Given the description of an element on the screen output the (x, y) to click on. 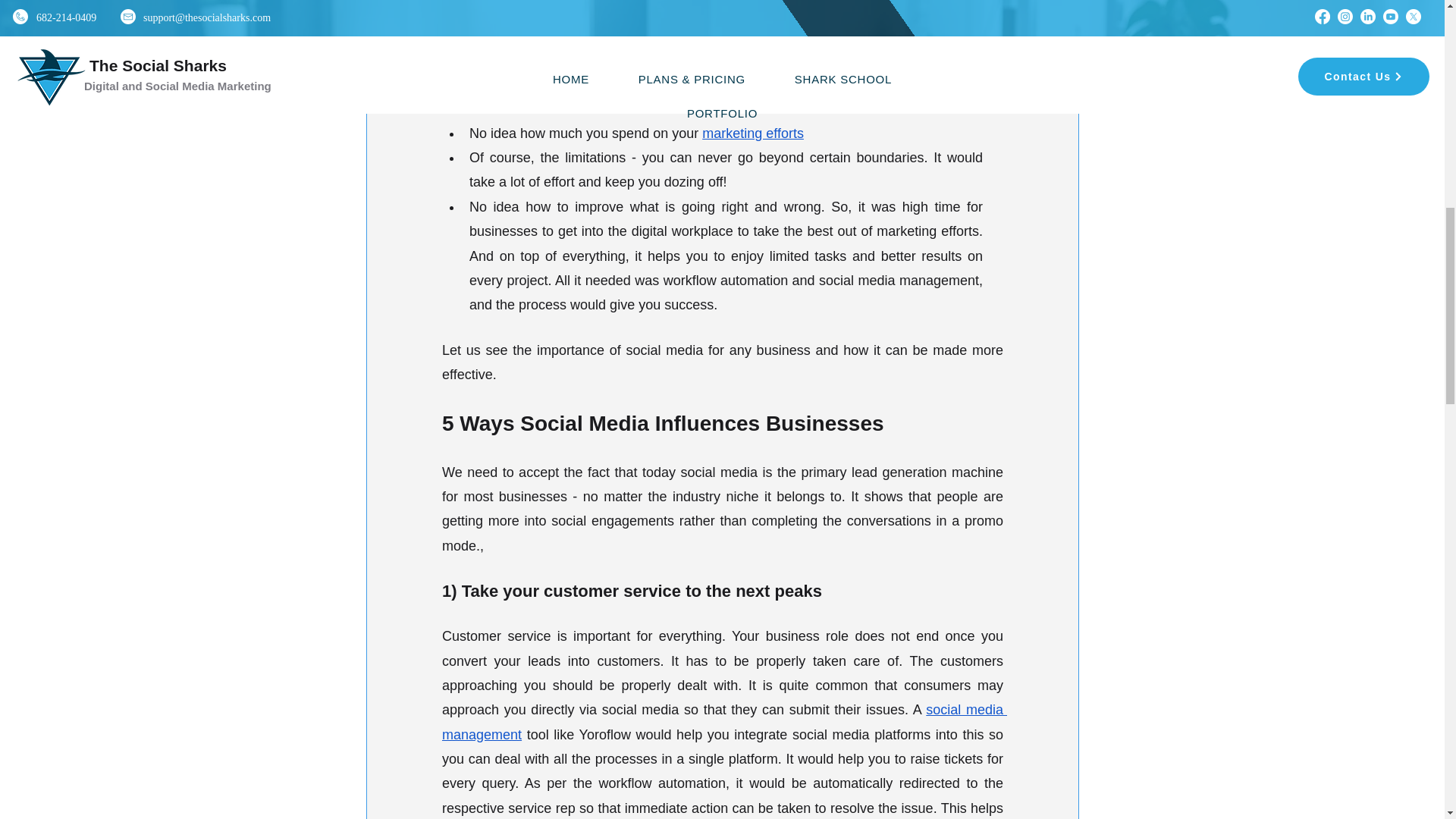
marketing efforts (752, 133)
social media management (723, 721)
